Given the description of an element on the screen output the (x, y) to click on. 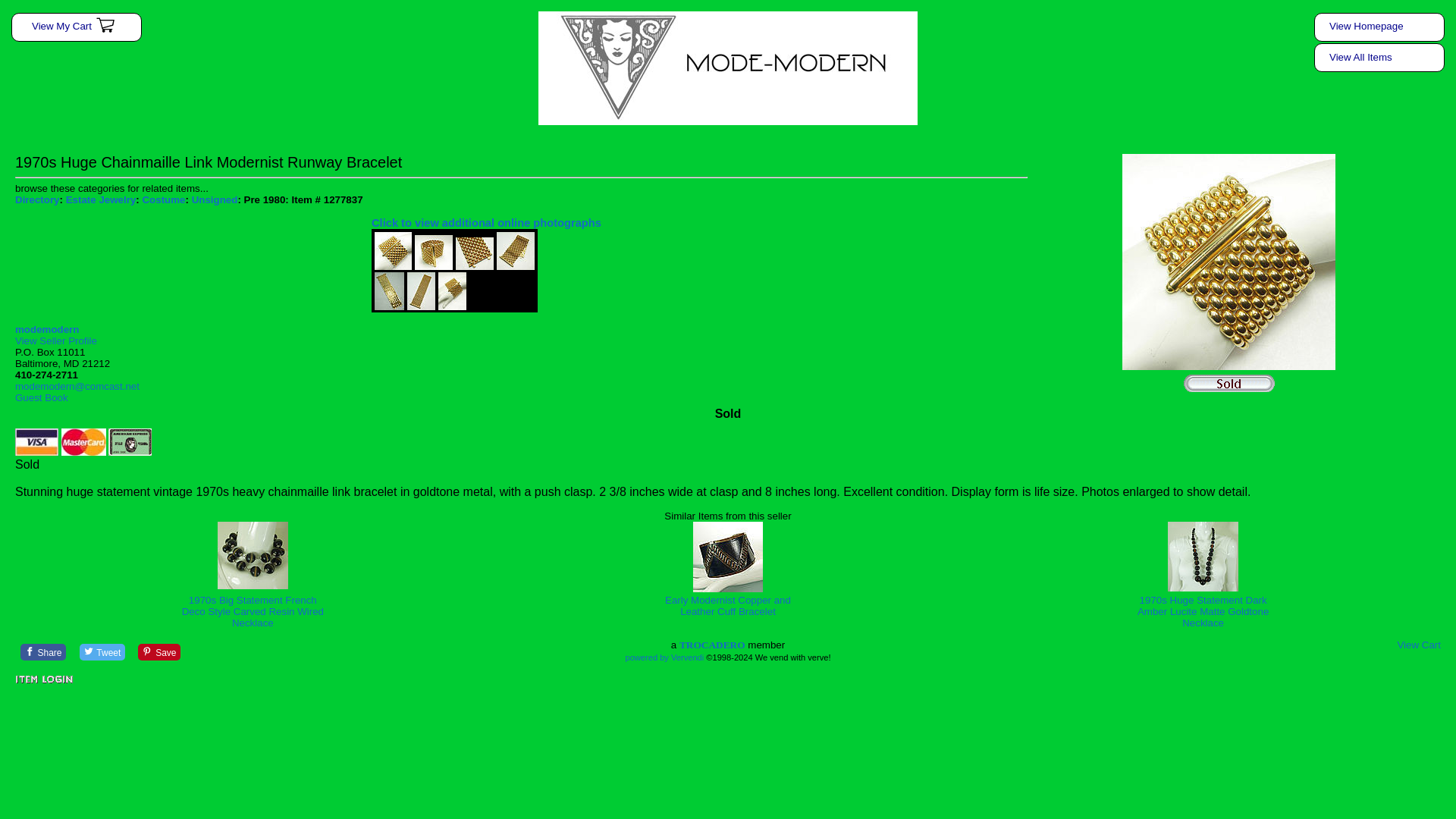
Guest Book (41, 397)
detail 2 (433, 252)
detail 3 (474, 253)
detail 1 (393, 250)
Save (159, 651)
modemodern (46, 328)
Estate Jewelry (100, 199)
Unsigned (215, 199)
Click to view additional online photographs (486, 223)
Tweet (101, 651)
View Seller Profile (55, 340)
Early Modernist Copper and Leather Cuff Bracelet (727, 605)
